Given the description of an element on the screen output the (x, y) to click on. 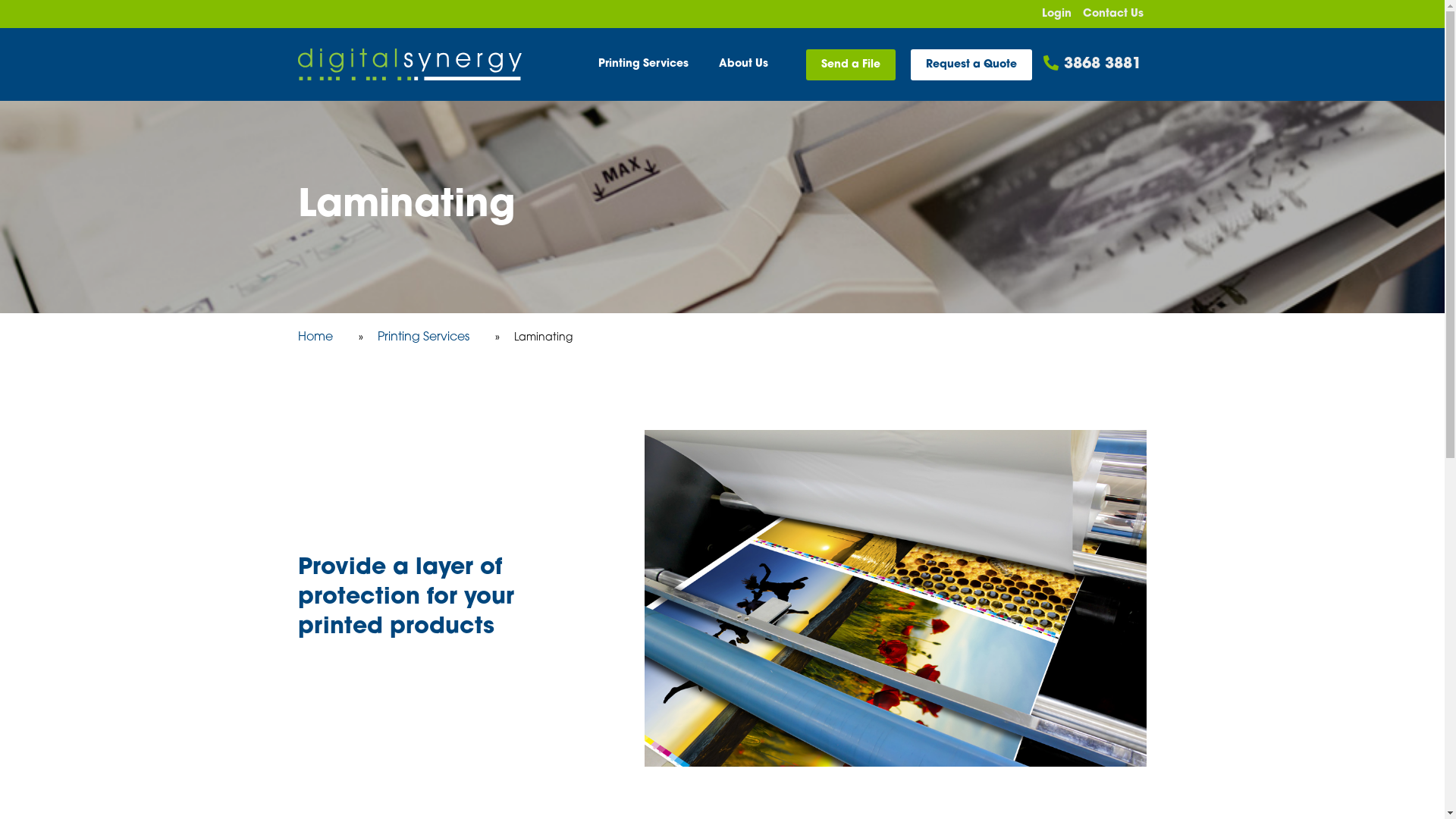
Login Element type: text (1056, 13)
3868 3881 Element type: text (1092, 64)
Contact Us Element type: text (1112, 13)
Printing Services Element type: text (643, 64)
About Us Element type: text (743, 64)
Printing Services Element type: text (423, 337)
Send a File Element type: text (850, 63)
Home Element type: text (314, 337)
Request a Quote Element type: text (971, 63)
